Given the description of an element on the screen output the (x, y) to click on. 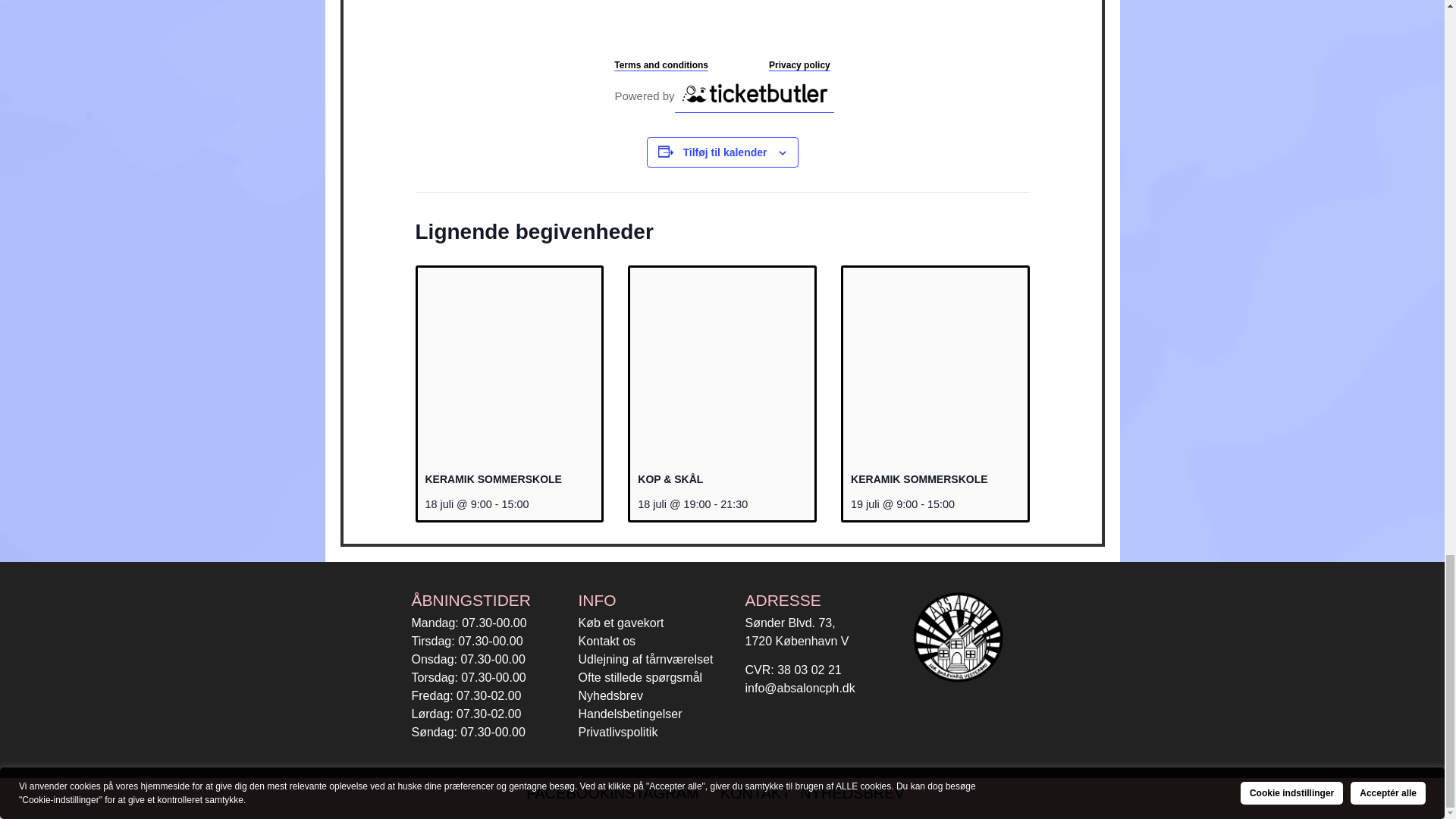
KERAMIK SOMMERSKOLE (492, 479)
Privacy policy (798, 65)
KERAMIK SOMMERSKOLE (918, 479)
Terms and conditions (660, 65)
